Given the description of an element on the screen output the (x, y) to click on. 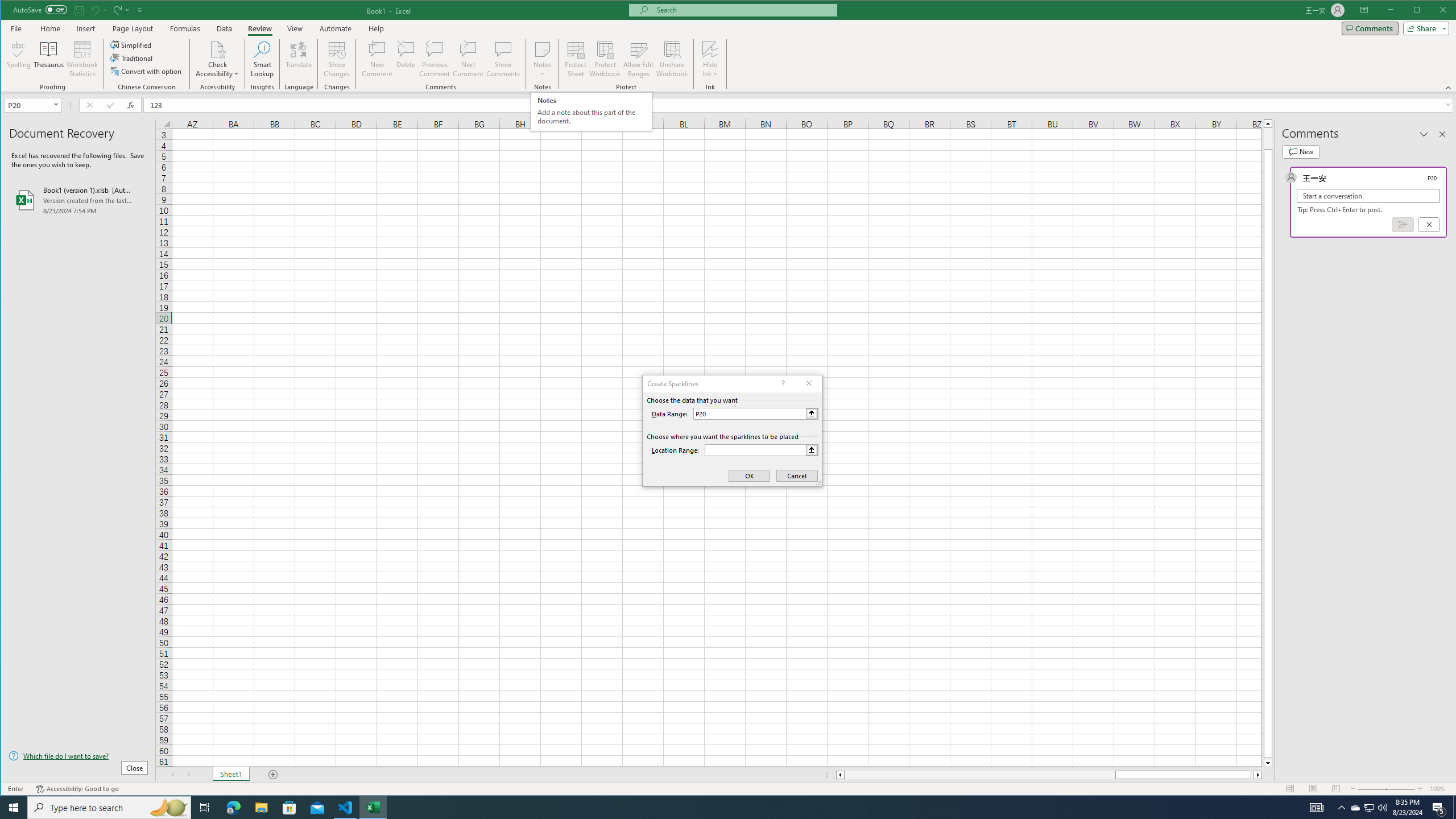
File Tab (16, 27)
Zoom (1386, 788)
Column right (1258, 774)
Spelling... (18, 59)
Post comment (Ctrl + Enter) (1402, 224)
Help (376, 28)
Hide Ink (710, 59)
Formulas (184, 28)
Protect Sheet... (575, 59)
Start a conversation (1368, 195)
Undo (98, 9)
Page up (1267, 138)
Scroll Right (188, 774)
Unshare Workbook (671, 59)
